Given the description of an element on the screen output the (x, y) to click on. 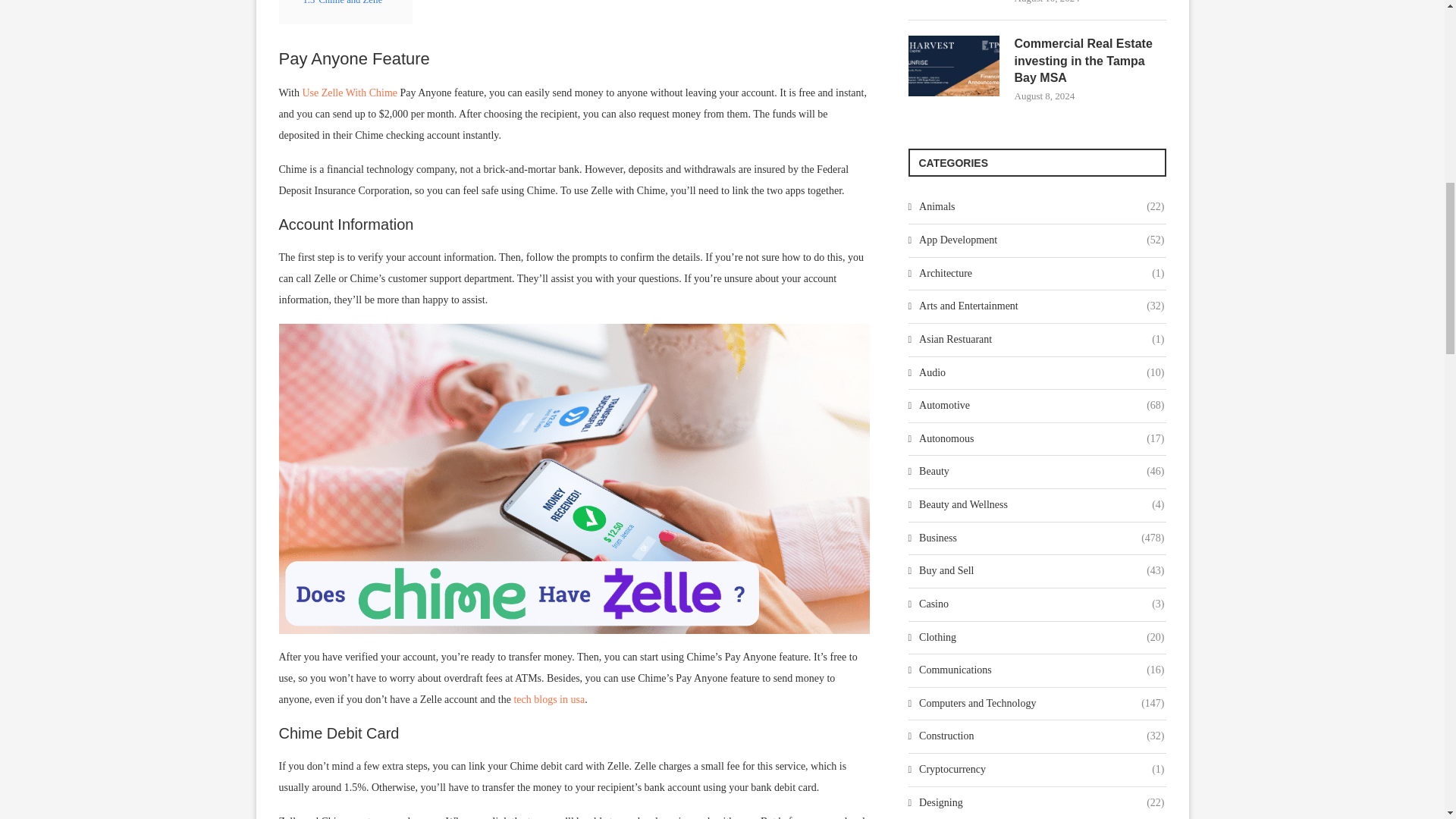
1.3 Chime and Zelle (342, 2)
Use Zelle With Chime (349, 92)
tech blogs in usa (549, 699)
